Given the description of an element on the screen output the (x, y) to click on. 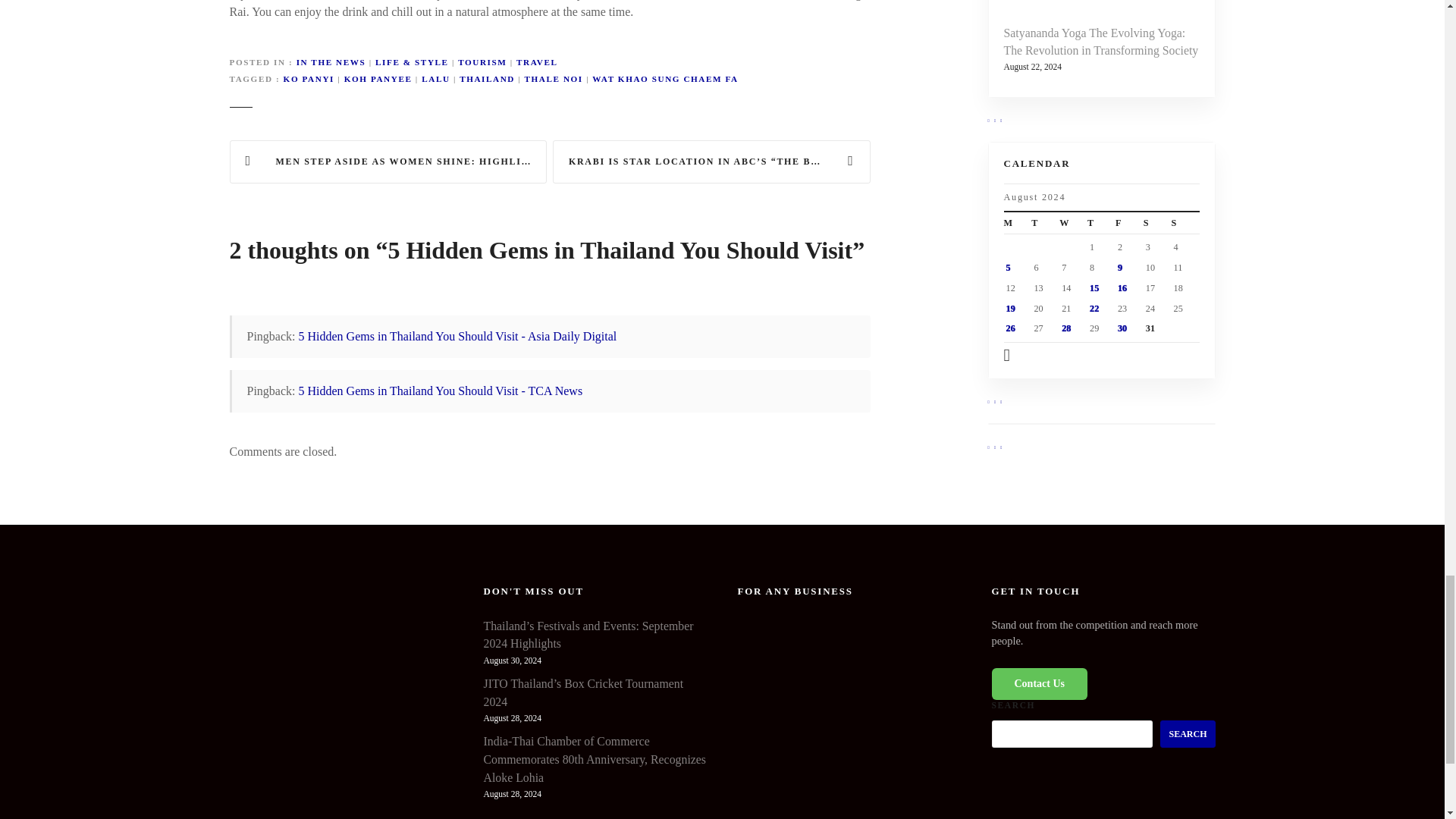
Wednesday (1073, 222)
Tuesday (1044, 222)
Monday (1018, 222)
Thursday (1101, 222)
Saturday (1157, 222)
Sunday (1185, 222)
IN THE NEWS (331, 61)
Friday (1128, 222)
